Given the description of an element on the screen output the (x, y) to click on. 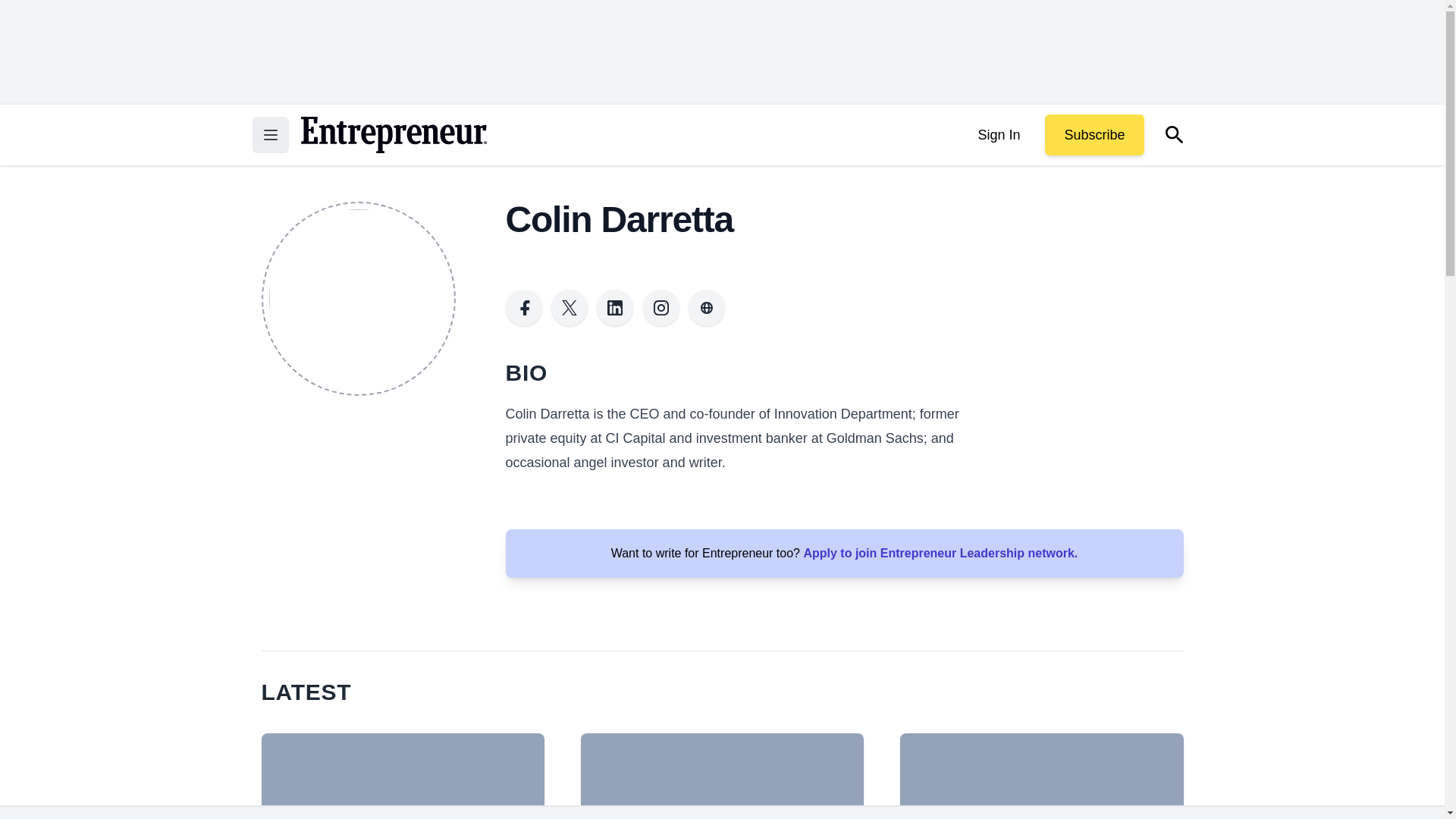
facebook (523, 307)
Return to the home page (392, 135)
website (706, 307)
twitter (569, 307)
linkedin (614, 307)
instagram (661, 307)
Subscribe (1093, 134)
Sign In (998, 134)
